Given the description of an element on the screen output the (x, y) to click on. 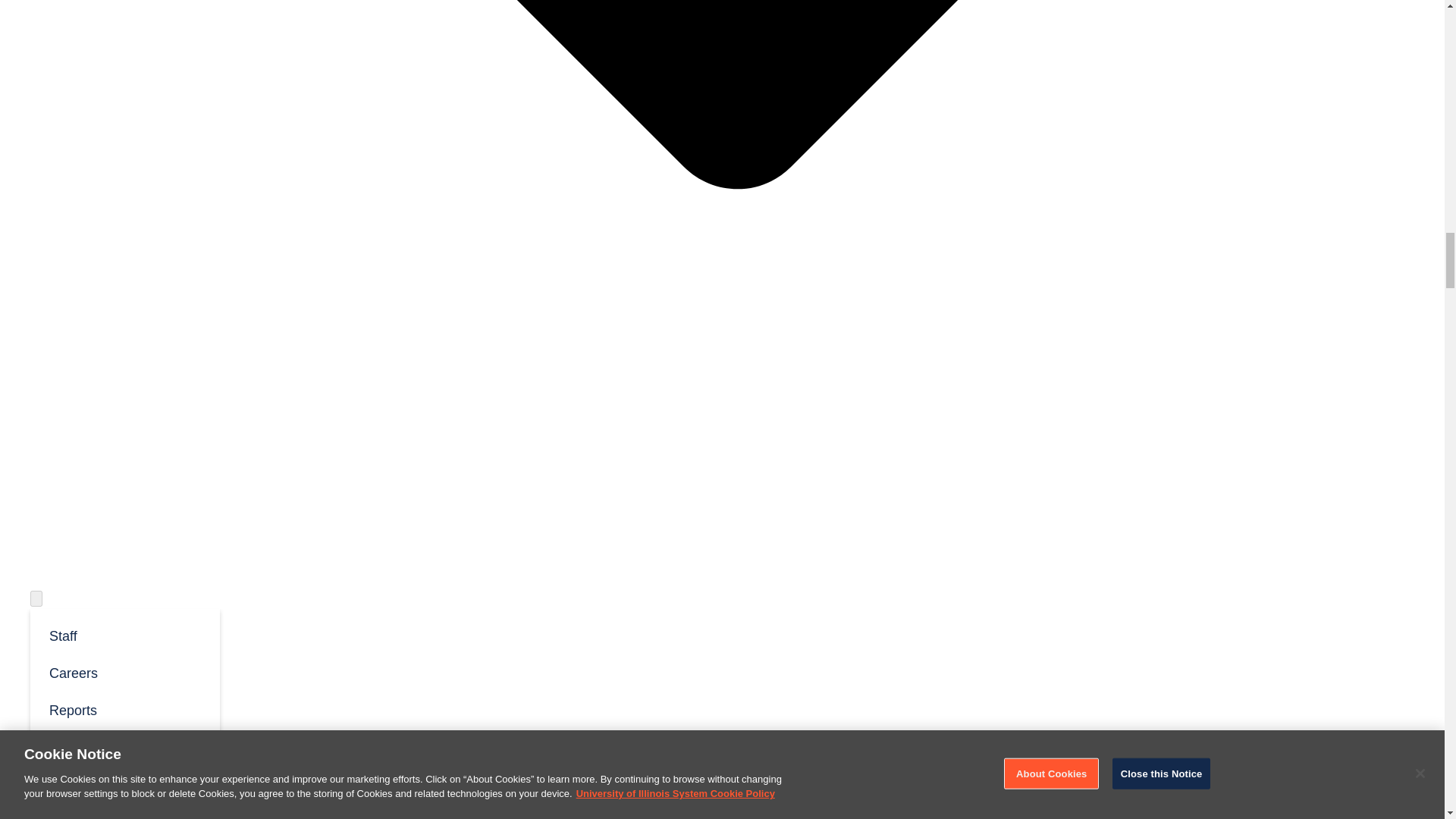
Reports (125, 709)
Extension Council (125, 746)
Careers (125, 672)
Staff (125, 634)
Local Programs (77, 795)
